Given the description of an element on the screen output the (x, y) to click on. 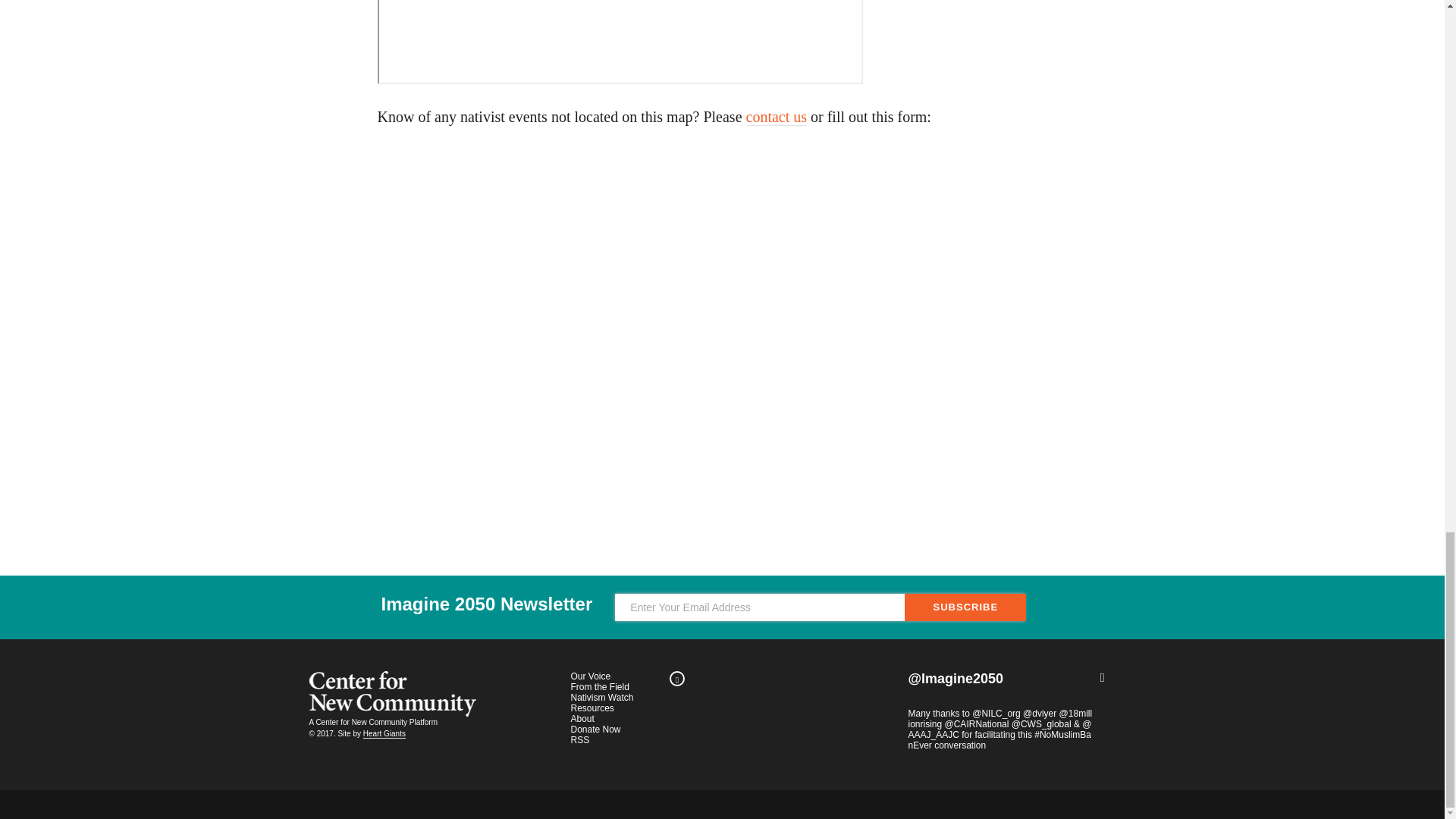
Subscribe (965, 606)
CNC (392, 693)
